Given the description of an element on the screen output the (x, y) to click on. 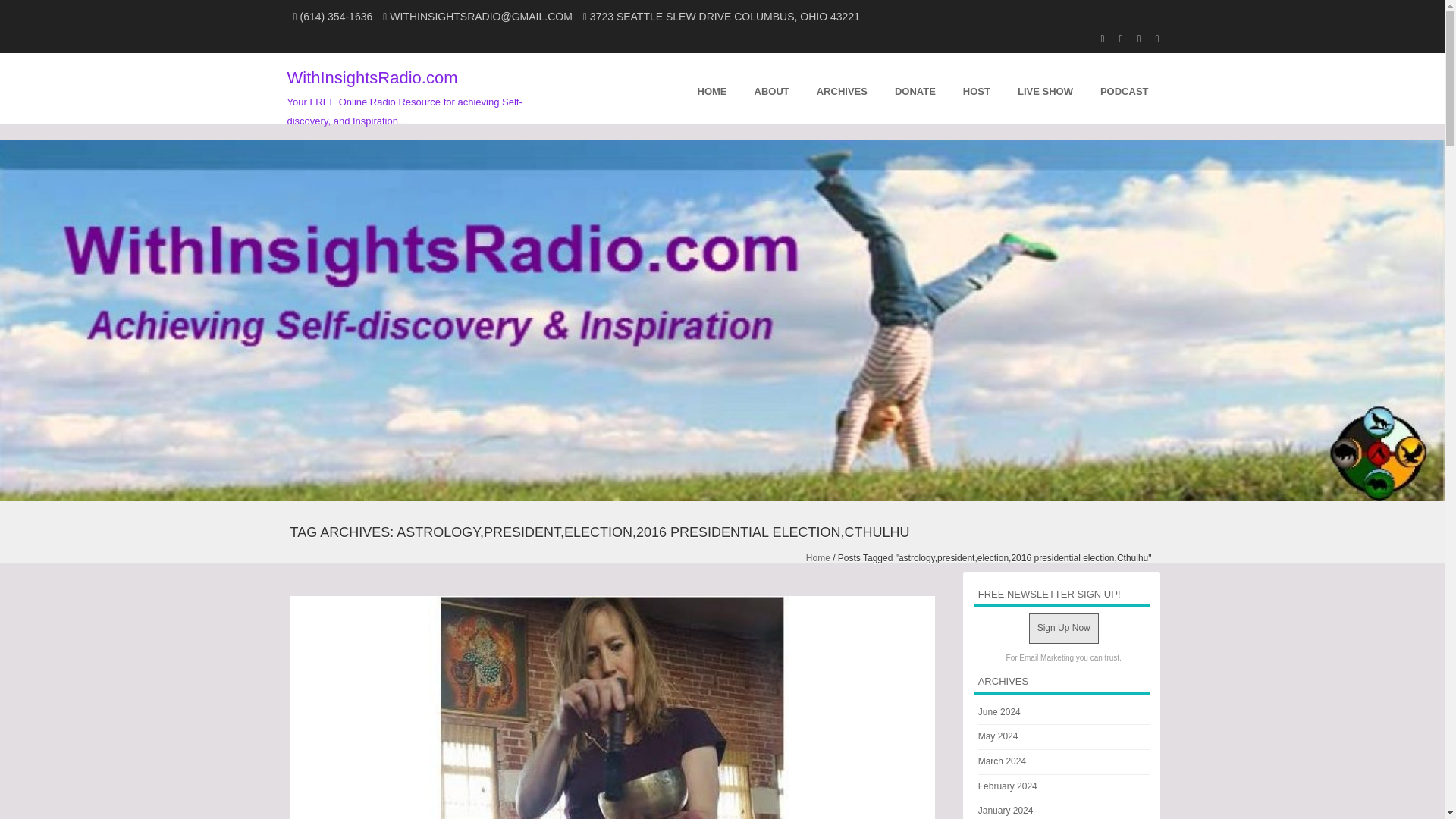
ARCHIVES (841, 88)
March 2024 (1002, 760)
May 2024 (997, 736)
Facebook (1131, 37)
Twitter (1149, 37)
January 2024 (1005, 810)
Home (817, 557)
PODCAST (1123, 88)
Youtube (1094, 37)
WithInsightsRadio.com (371, 76)
June 2024 (999, 711)
WithInsightsRadio.com (371, 76)
LIVE SHOW (1045, 88)
SKIP TO CONTENT (604, 88)
February 2024 (1007, 786)
